Given the description of an element on the screen output the (x, y) to click on. 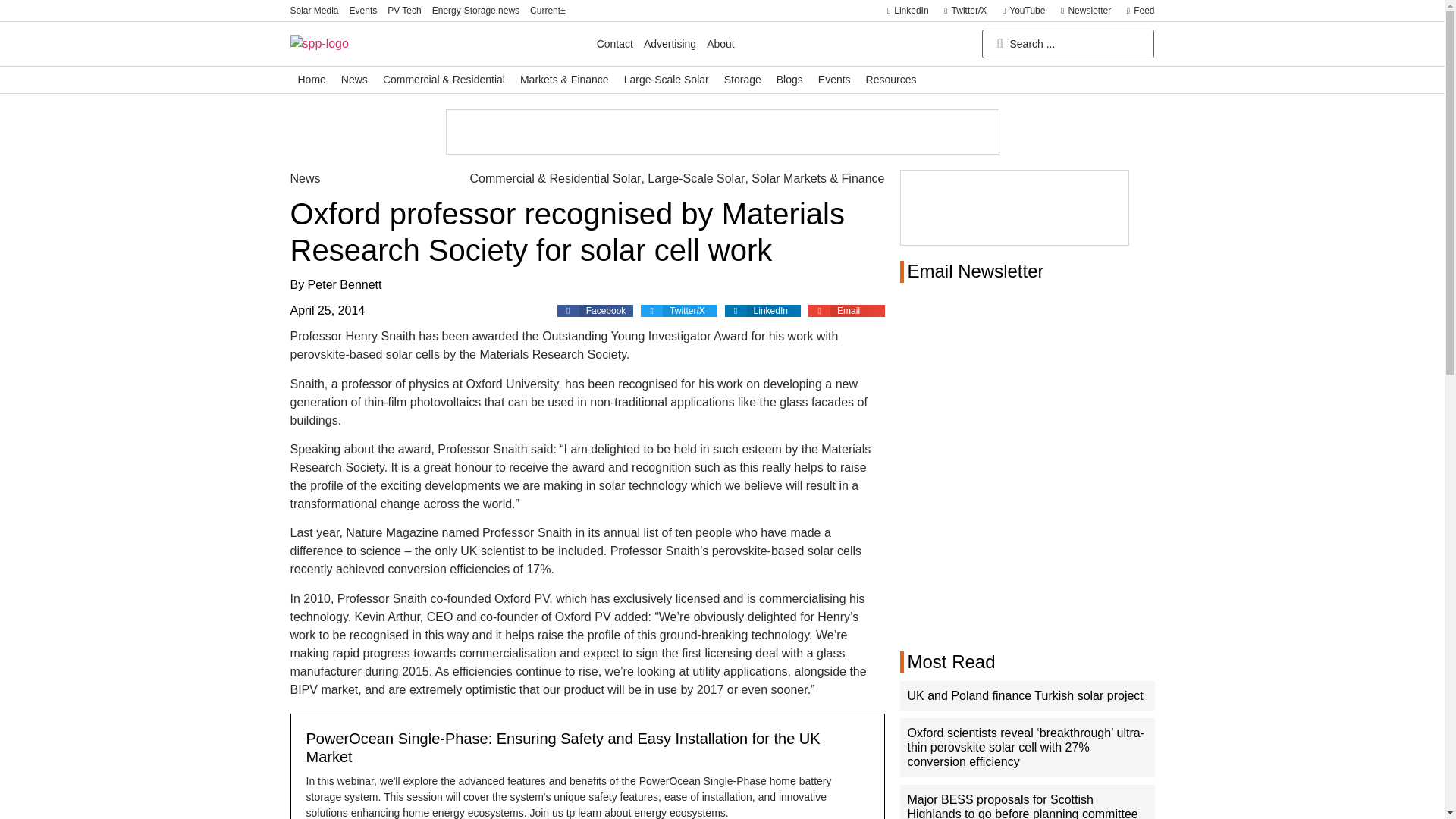
About (720, 44)
Energy-Storage.news (475, 10)
News (354, 79)
YouTube (1019, 10)
Events (834, 79)
Resources (891, 79)
PV Tech (403, 10)
Blogs (789, 79)
Large-Scale Solar (695, 178)
Large-Scale Solar (665, 79)
